Given the description of an element on the screen output the (x, y) to click on. 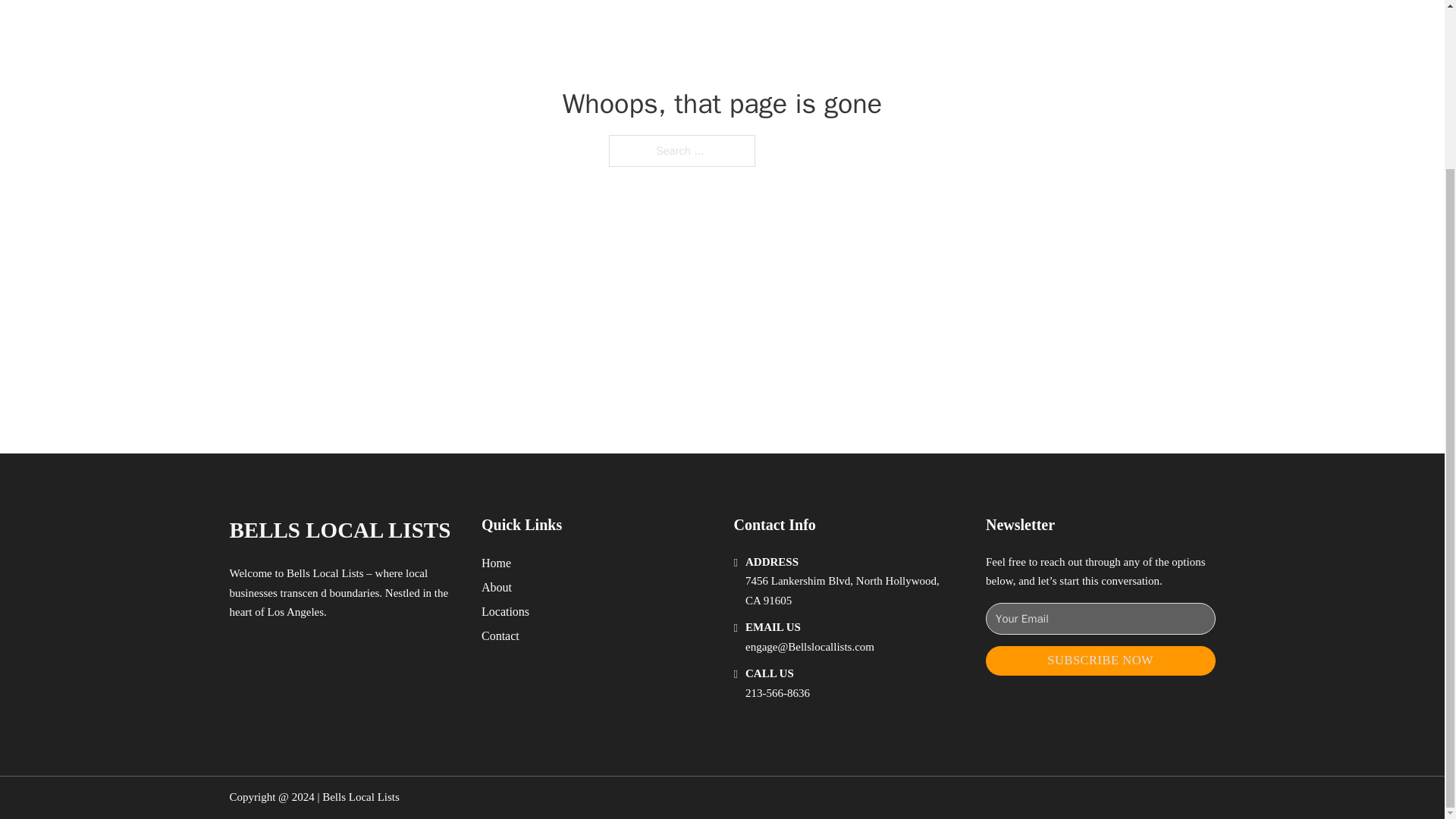
Contact (500, 635)
Locations (505, 611)
SUBSCRIBE NOW (1100, 660)
213-566-8636 (777, 693)
Home (496, 562)
BELLS LOCAL LISTS (338, 529)
About (496, 587)
